Given the description of an element on the screen output the (x, y) to click on. 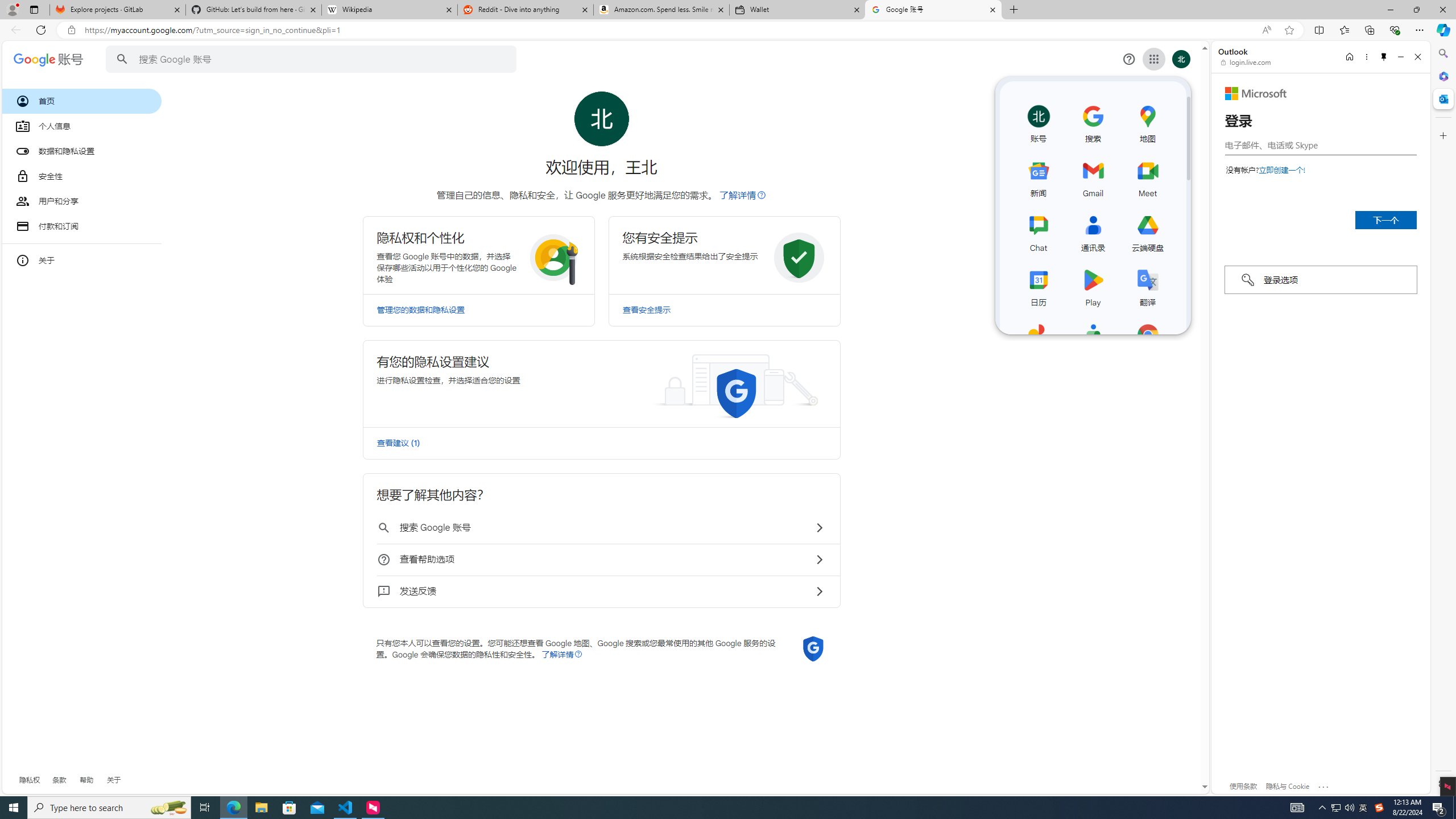
Amazon.com. Spend less. Smile more. (660, 9)
